Given the description of an element on the screen output the (x, y) to click on. 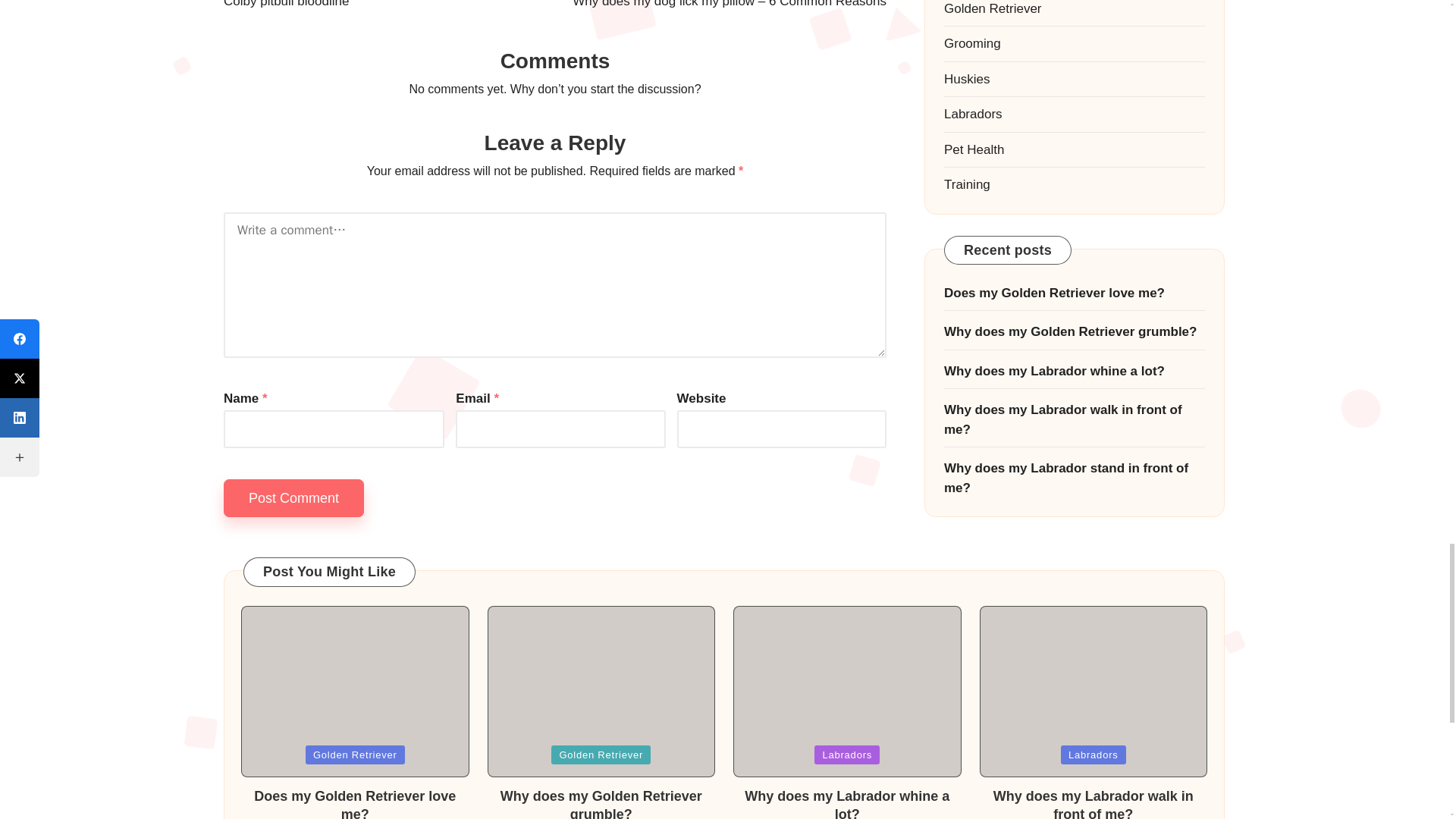
Colby pitbull bloodline (389, 5)
Post Comment (294, 498)
Post Comment (294, 498)
